Given the description of an element on the screen output the (x, y) to click on. 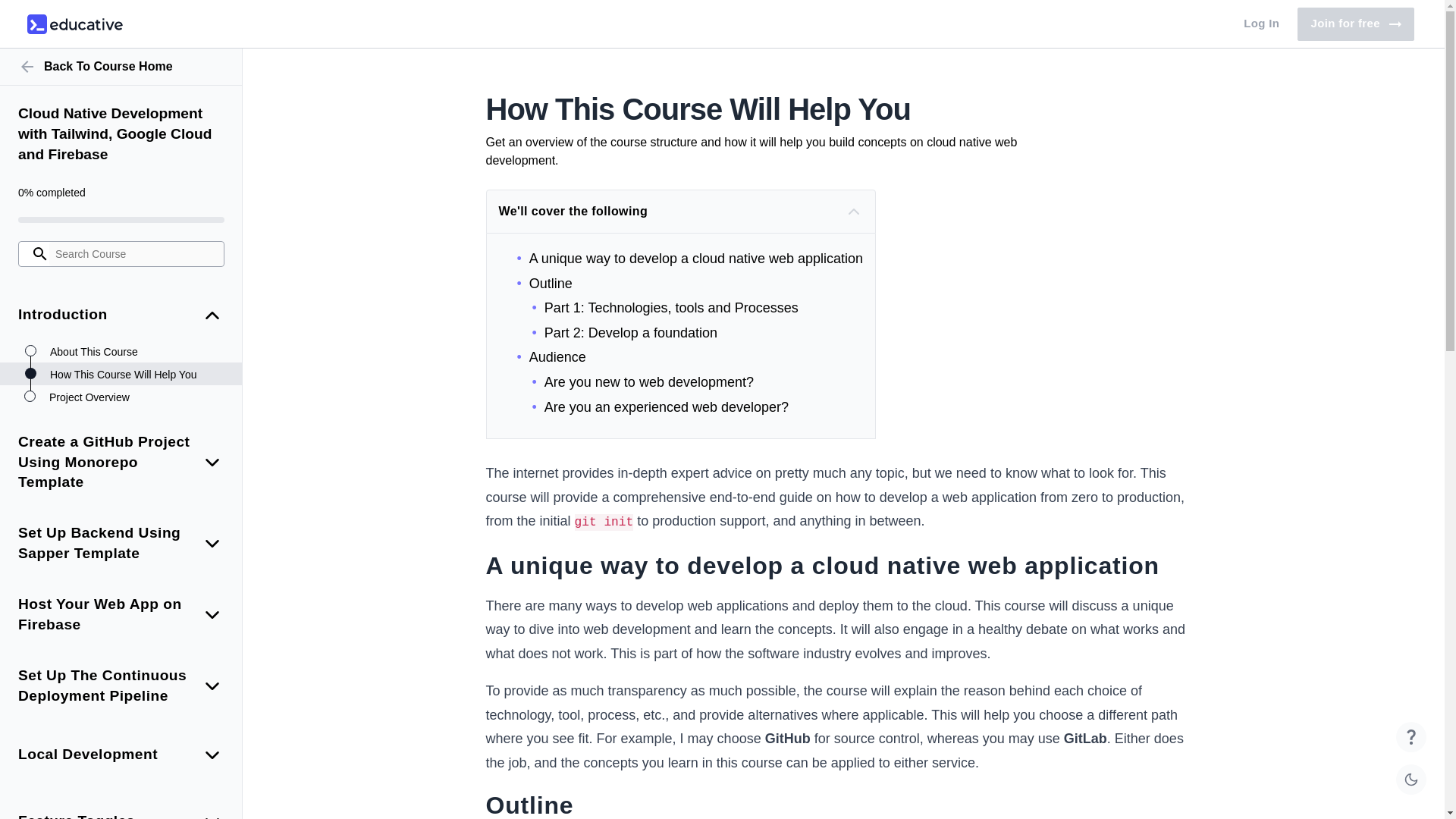
About This Course (138, 351)
Log In (1355, 23)
Back To Course Home (1261, 23)
How This Course Will Help You (121, 66)
educative.io (138, 374)
Project Overview (74, 23)
